Given the description of an element on the screen output the (x, y) to click on. 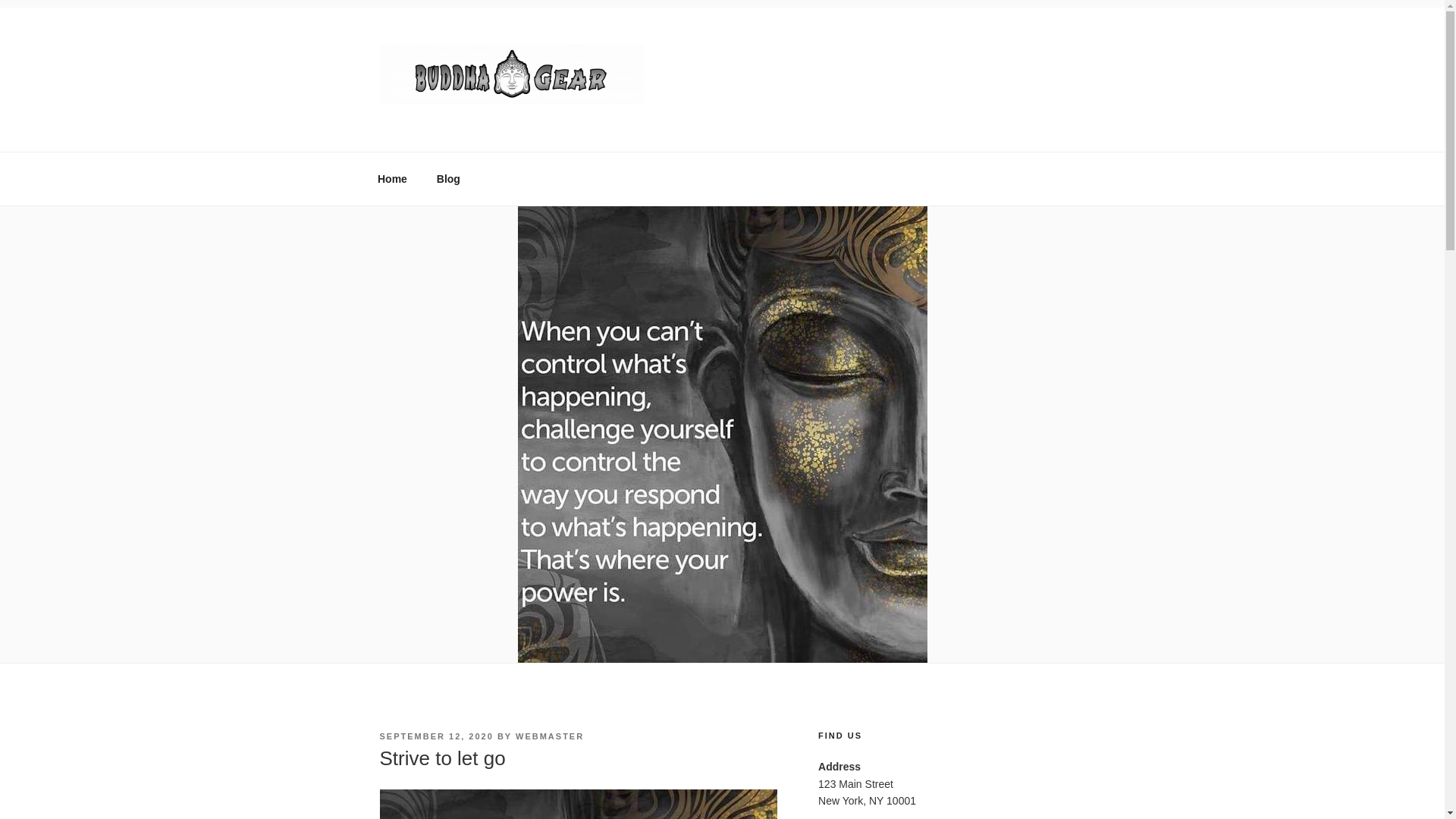
Blog (448, 179)
SEPTEMBER 12, 2020 (435, 736)
Home (392, 179)
BUDDHA GEAR (492, 126)
WEBMASTER (549, 736)
